Given the description of an element on the screen output the (x, y) to click on. 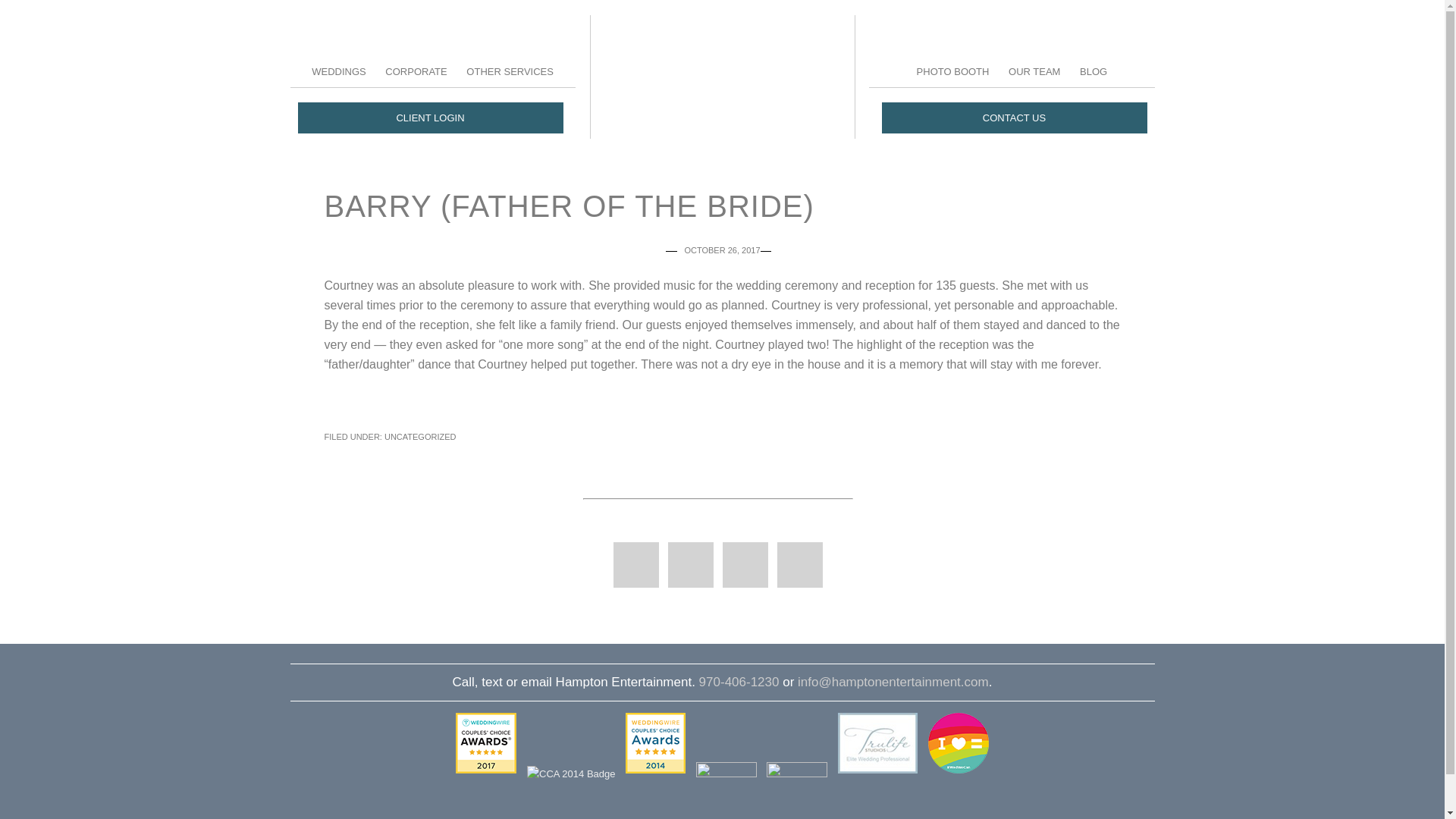
trulifebadge109 (877, 742)
BLOG (1093, 70)
Master of Ceremonies Silver (797, 790)
PHOTO BOOTH (952, 70)
WEDDINGS (338, 70)
970-406-1230 (738, 681)
OTHER SERVICES (510, 70)
CORPORATE (415, 70)
LoveStoryLogo (726, 790)
CONTACT US (1013, 117)
